Given the description of an element on the screen output the (x, y) to click on. 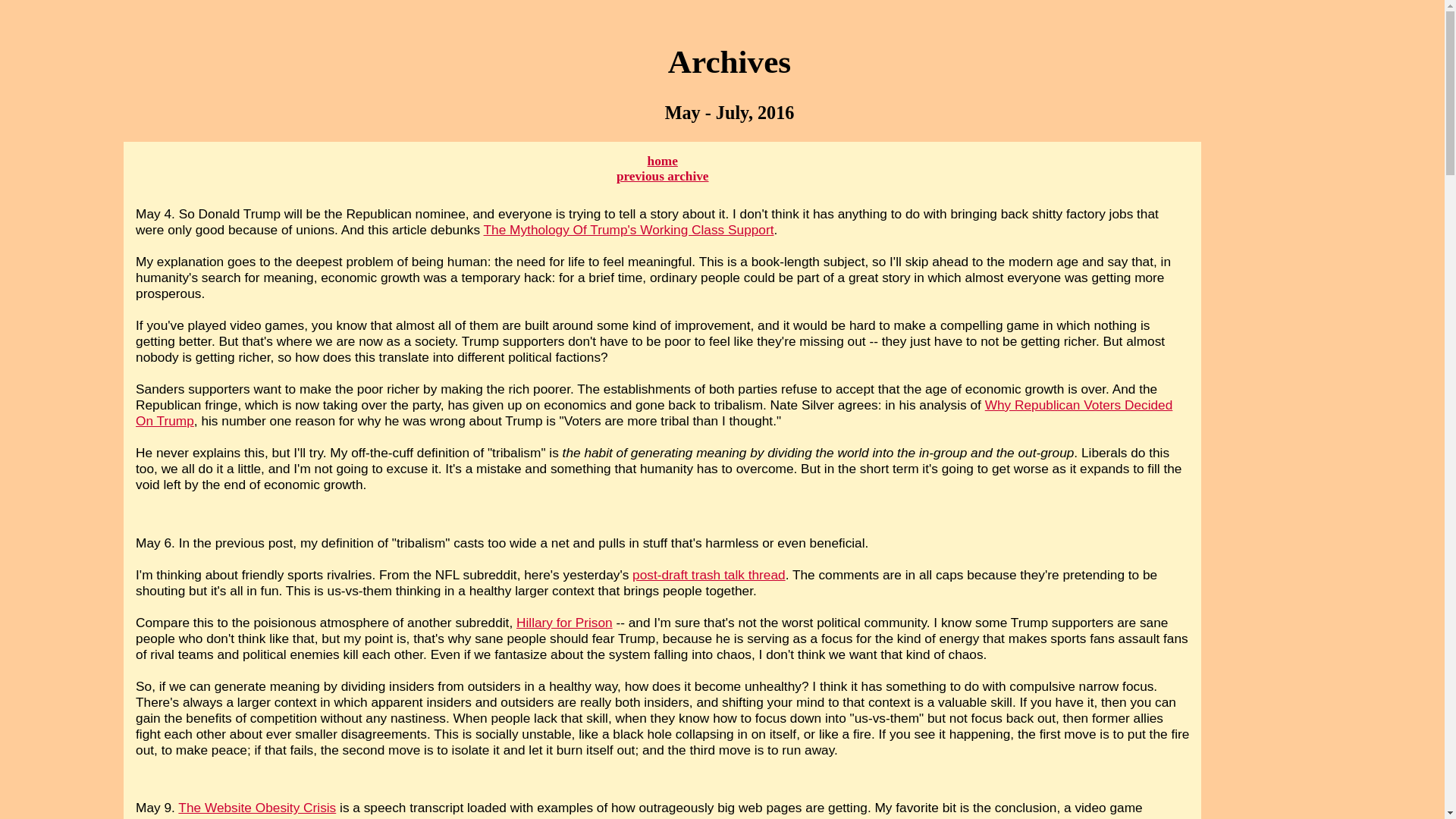
previous archive (662, 175)
home (662, 160)
post-draft trash talk thread (708, 574)
Hillary for Prison (564, 622)
Why Republican Voters Decided On Trump (653, 412)
The Mythology Of Trump's Working Class Support (628, 229)
The Website Obesity Crisis (256, 807)
